Given the description of an element on the screen output the (x, y) to click on. 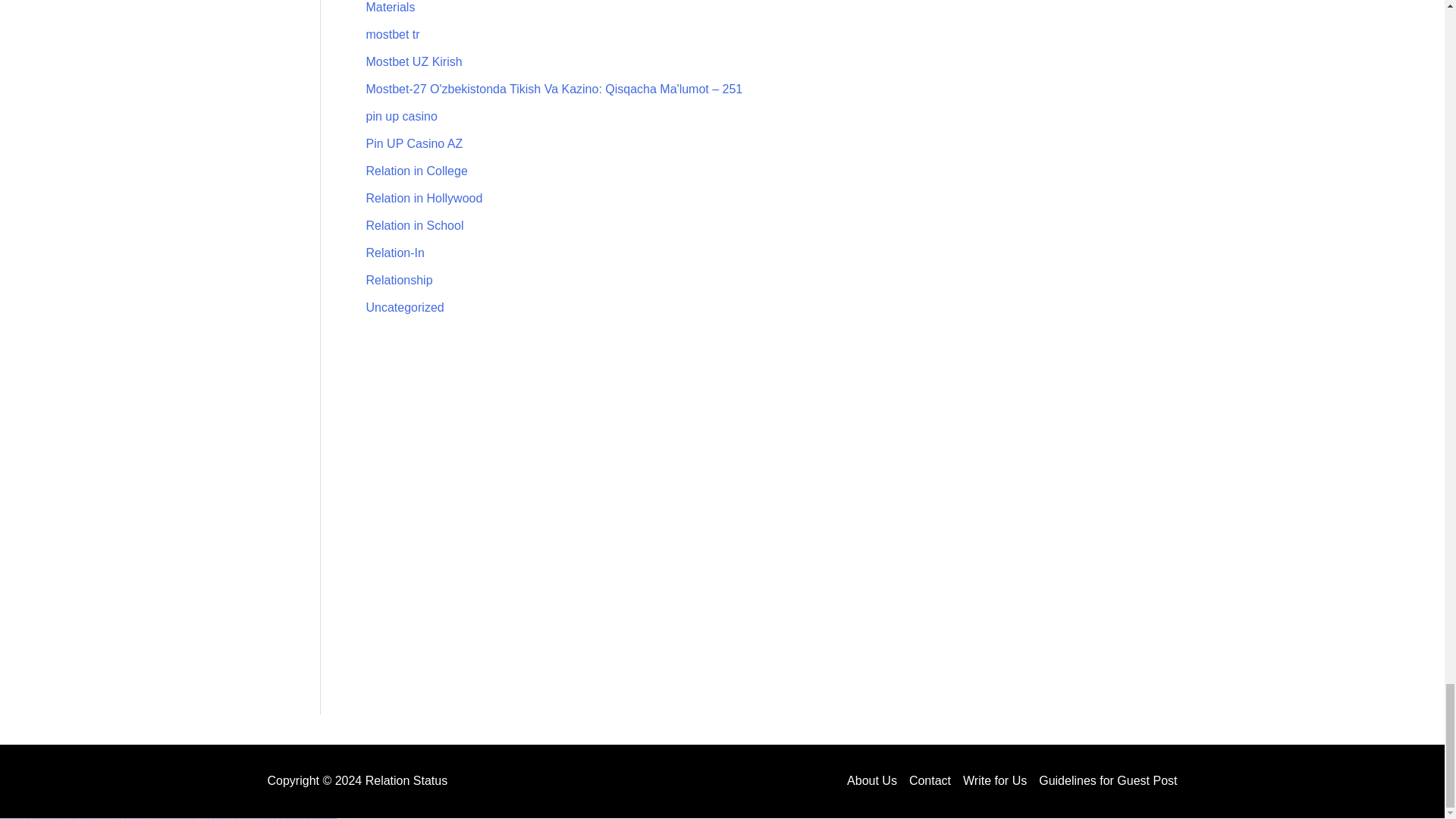
Advertisement (745, 434)
Advertisement (745, 632)
